Given the description of an element on the screen output the (x, y) to click on. 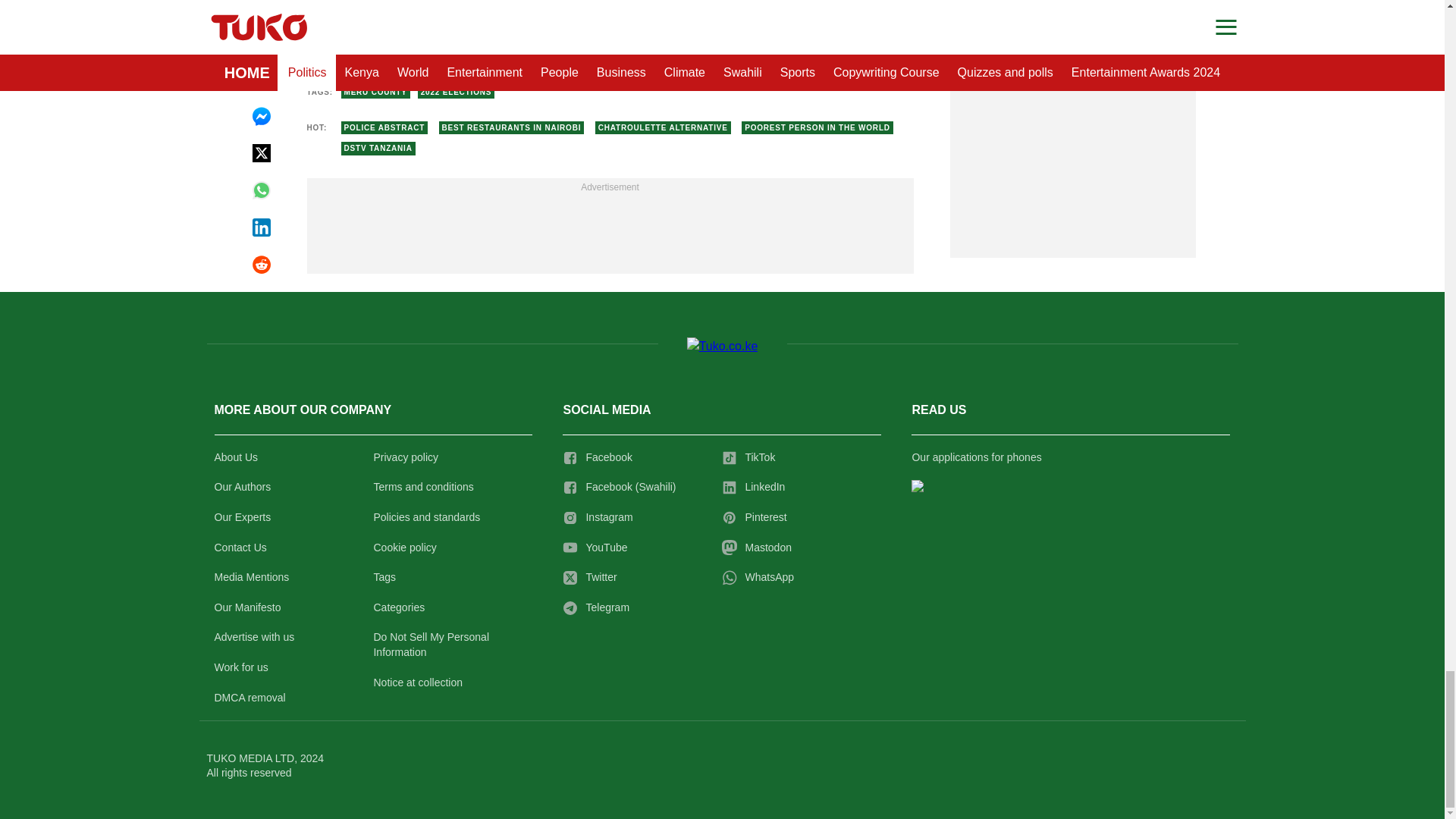
Author page (533, 42)
